Given the description of an element on the screen output the (x, y) to click on. 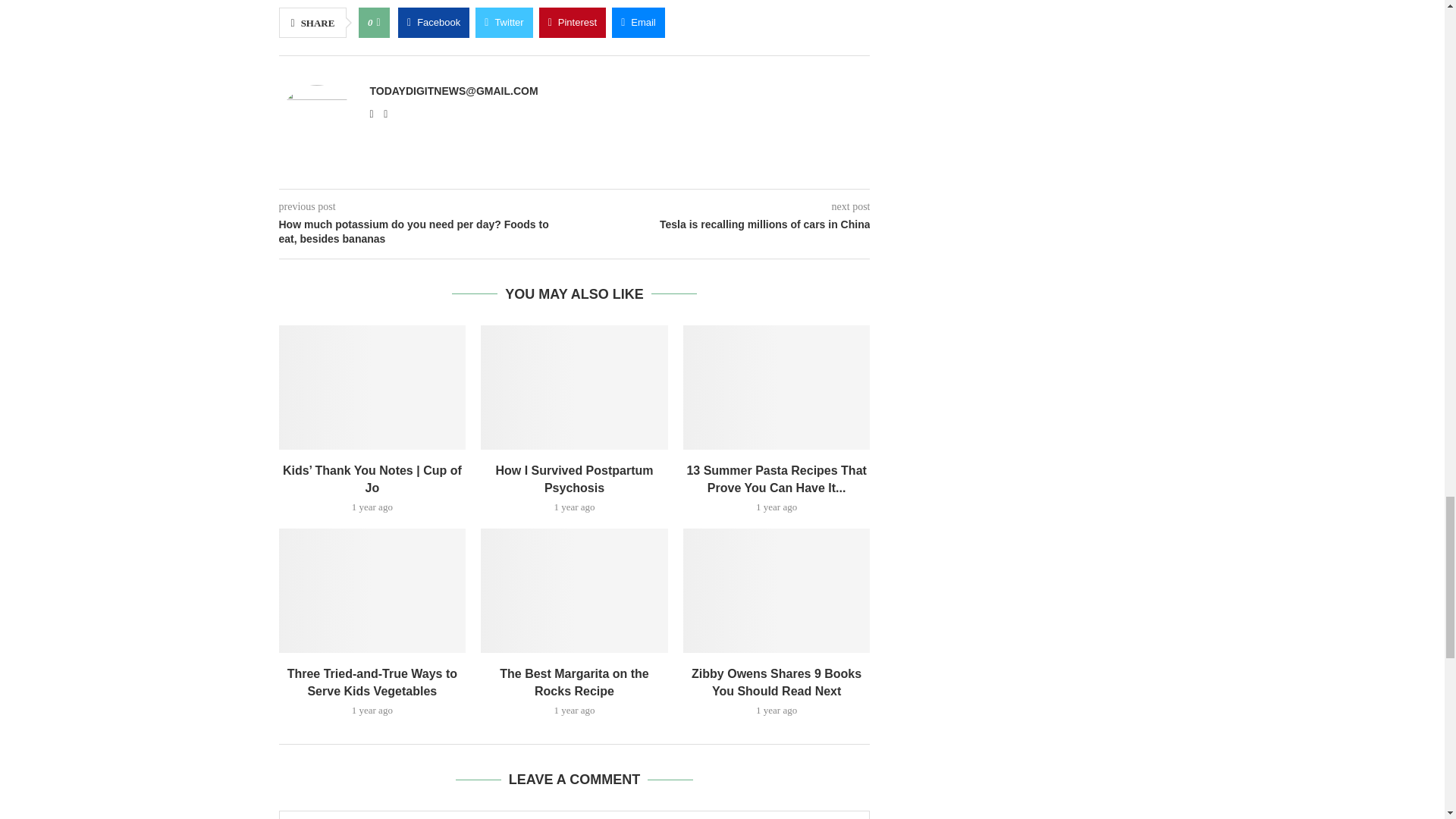
The Best Margarita on the Rocks Recipe (574, 590)
How I Survived Postpartum Psychosis (574, 387)
Zibby Owens Shares 9 Books You Should Read Next (776, 590)
13 Summer Pasta Recipes That Prove You Can Have It All (776, 387)
Three Tried-and-True Ways to Serve Kids Vegetables (372, 590)
